Given the description of an element on the screen output the (x, y) to click on. 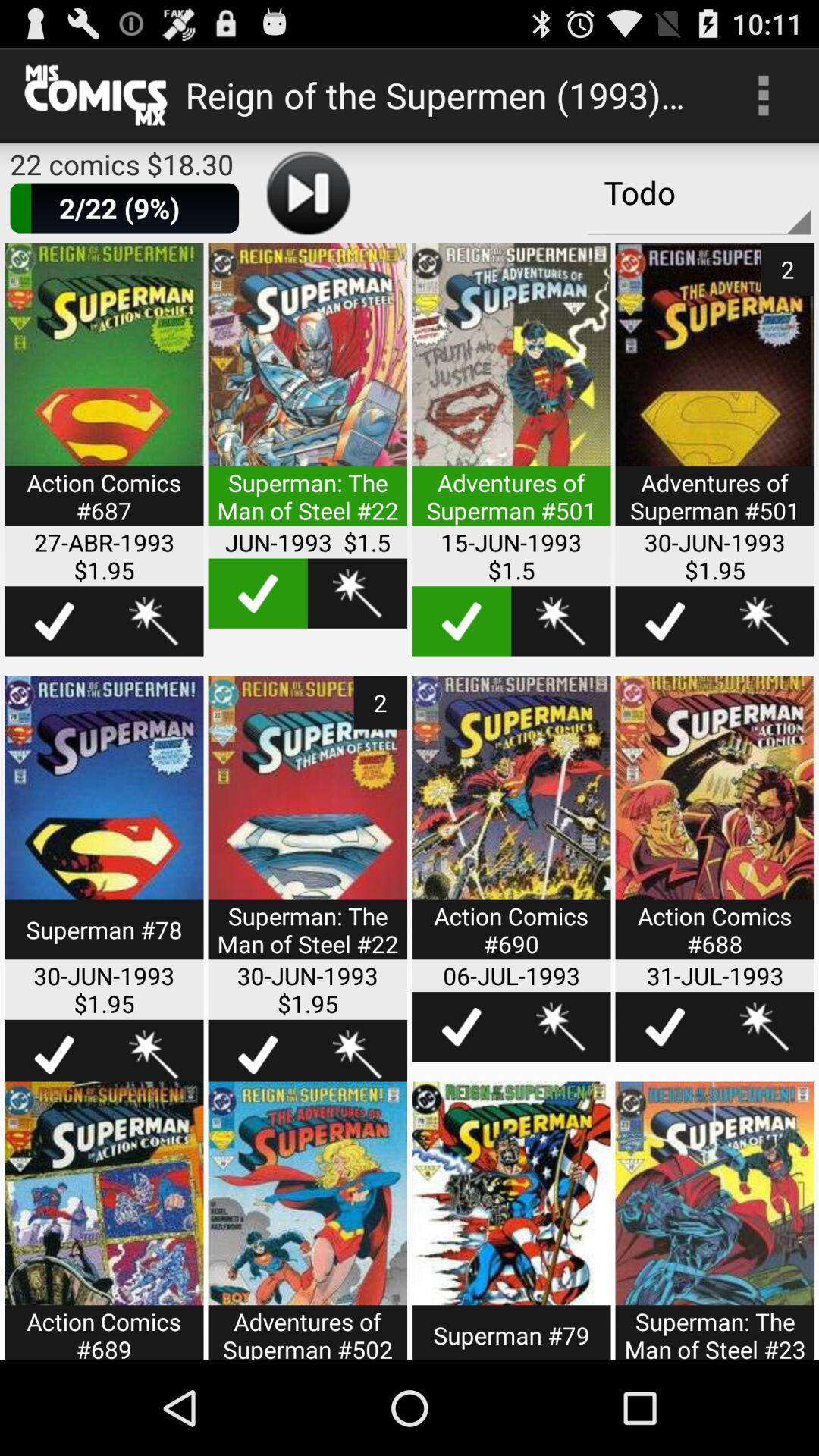
select comic (461, 1026)
